Given the description of an element on the screen output the (x, y) to click on. 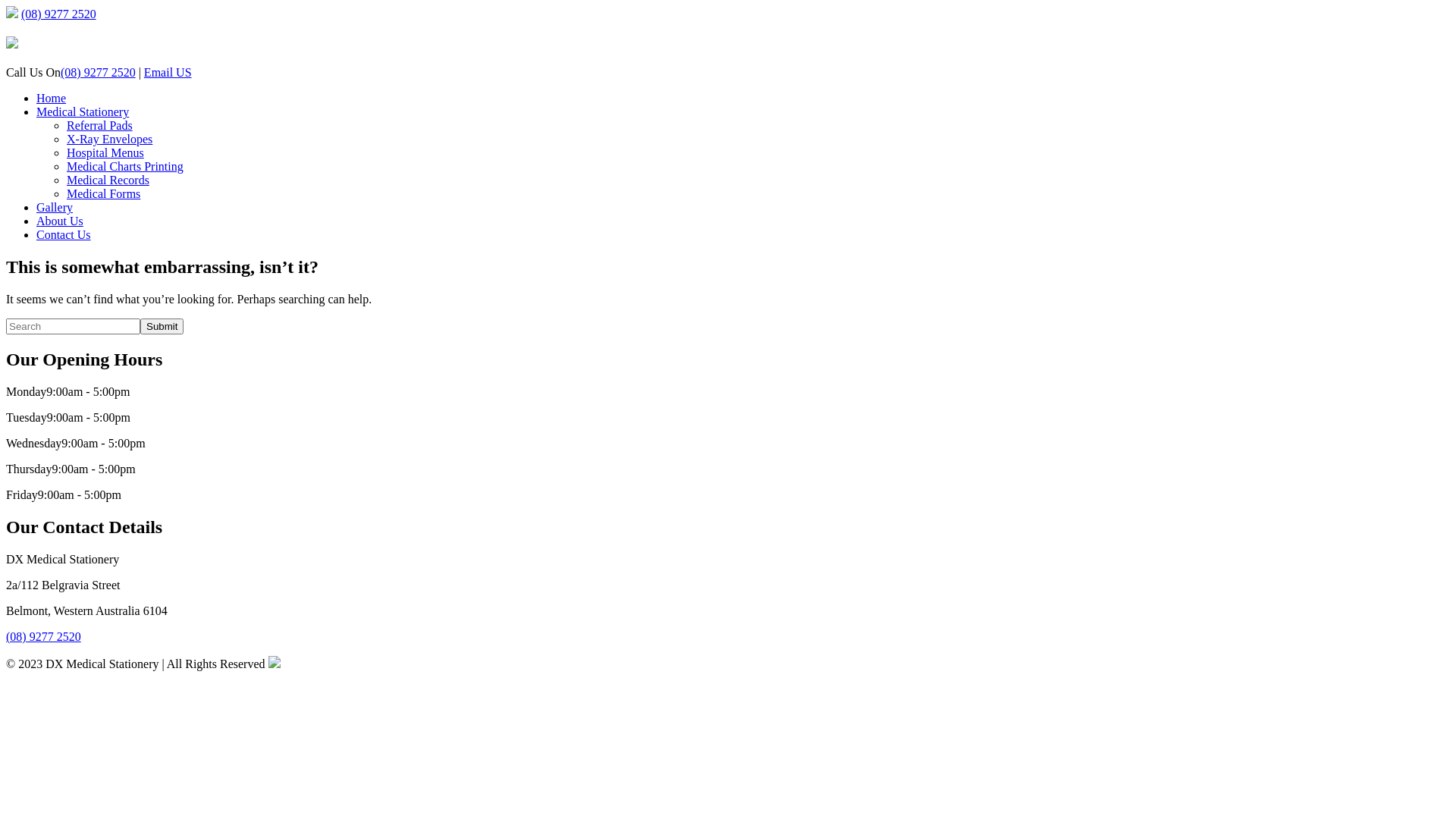
(08) 9277 2520 Element type: text (58, 13)
Home Element type: text (50, 97)
Email US Element type: text (167, 71)
X-Ray Envelopes Element type: text (109, 138)
(08) 9277 2520 Element type: text (97, 71)
Medical Stationery Element type: text (82, 111)
Hospital Menus Element type: text (105, 152)
(08) 9277 2520 Element type: text (43, 636)
Referral Pads Element type: text (99, 125)
About Us Element type: text (59, 220)
Contact Us Element type: text (63, 234)
Gallery Element type: text (54, 206)
Medical Charts Printing Element type: text (124, 166)
Medical Records Element type: text (107, 179)
Submit Element type: text (161, 326)
Medical Forms Element type: text (103, 193)
